Given the description of an element on the screen output the (x, y) to click on. 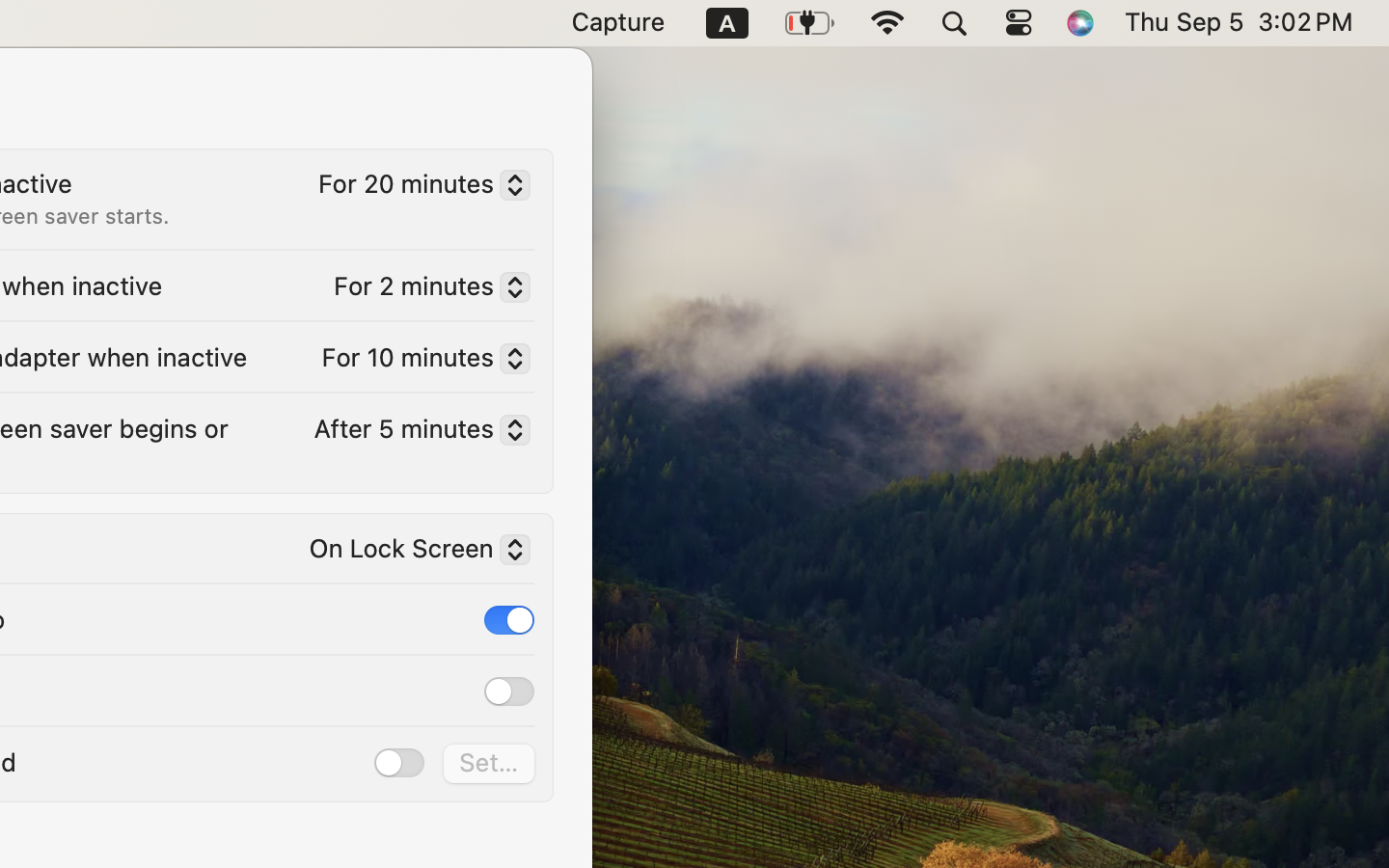
For 10 minutes Element type: AXPopUpButton (417, 361)
